Given the description of an element on the screen output the (x, y) to click on. 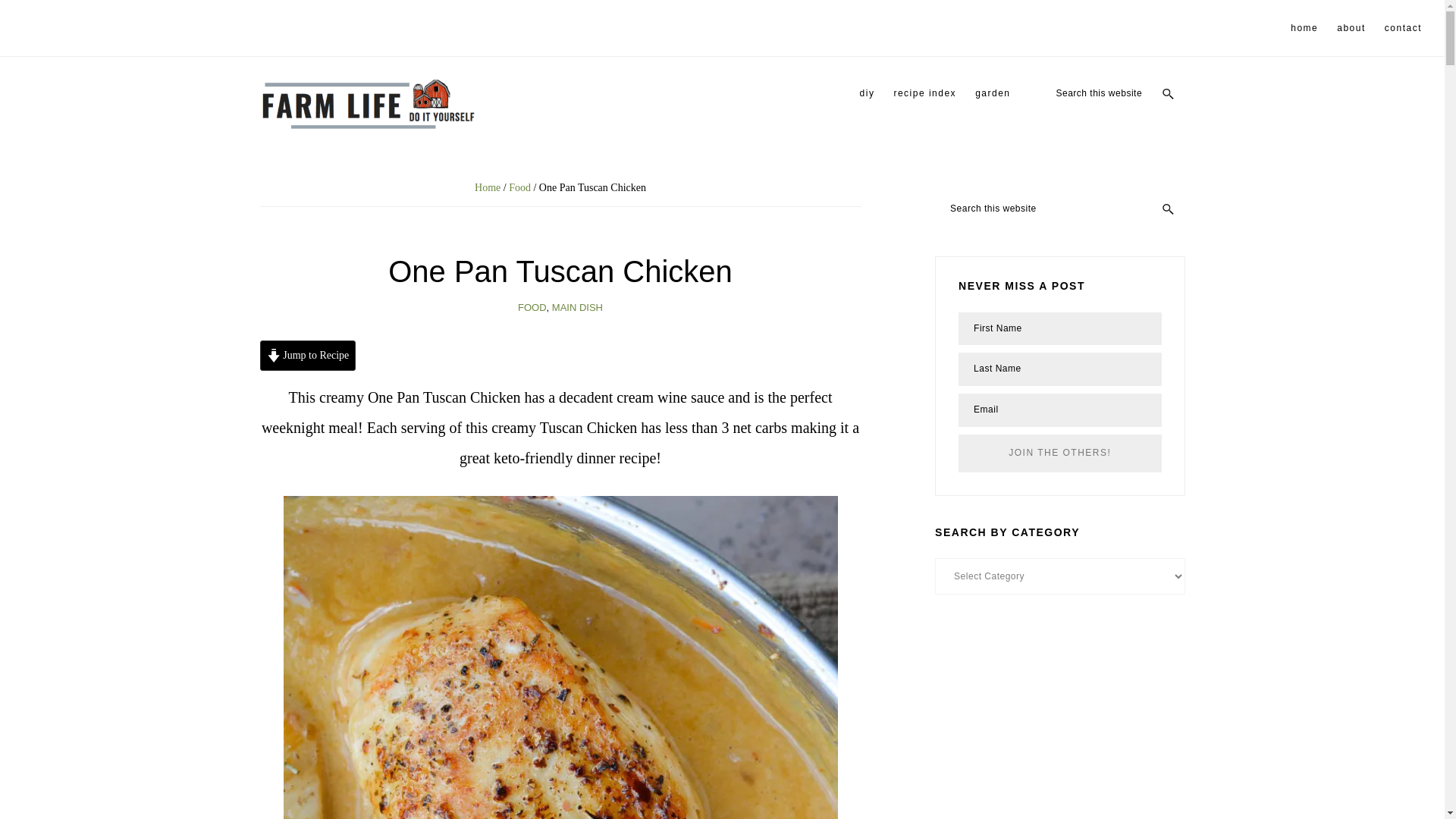
about (1351, 27)
contact (1403, 27)
garden (992, 93)
recipe index (924, 93)
Food (519, 187)
Jump to Recipe (307, 355)
